Given the description of an element on the screen output the (x, y) to click on. 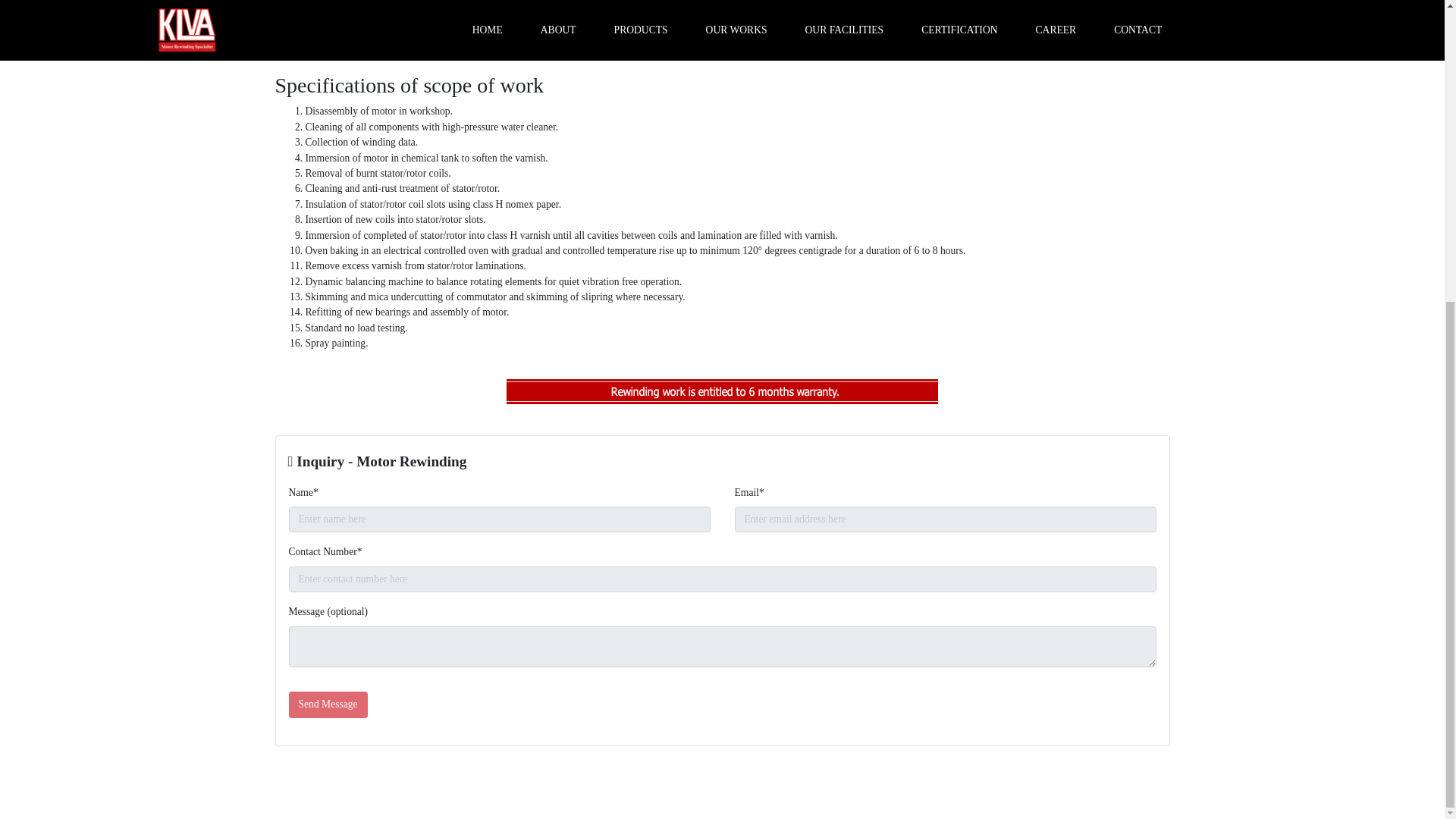
  Description (339, 44)
Send Message (327, 704)
Send Message (327, 704)
